Given the description of an element on the screen output the (x, y) to click on. 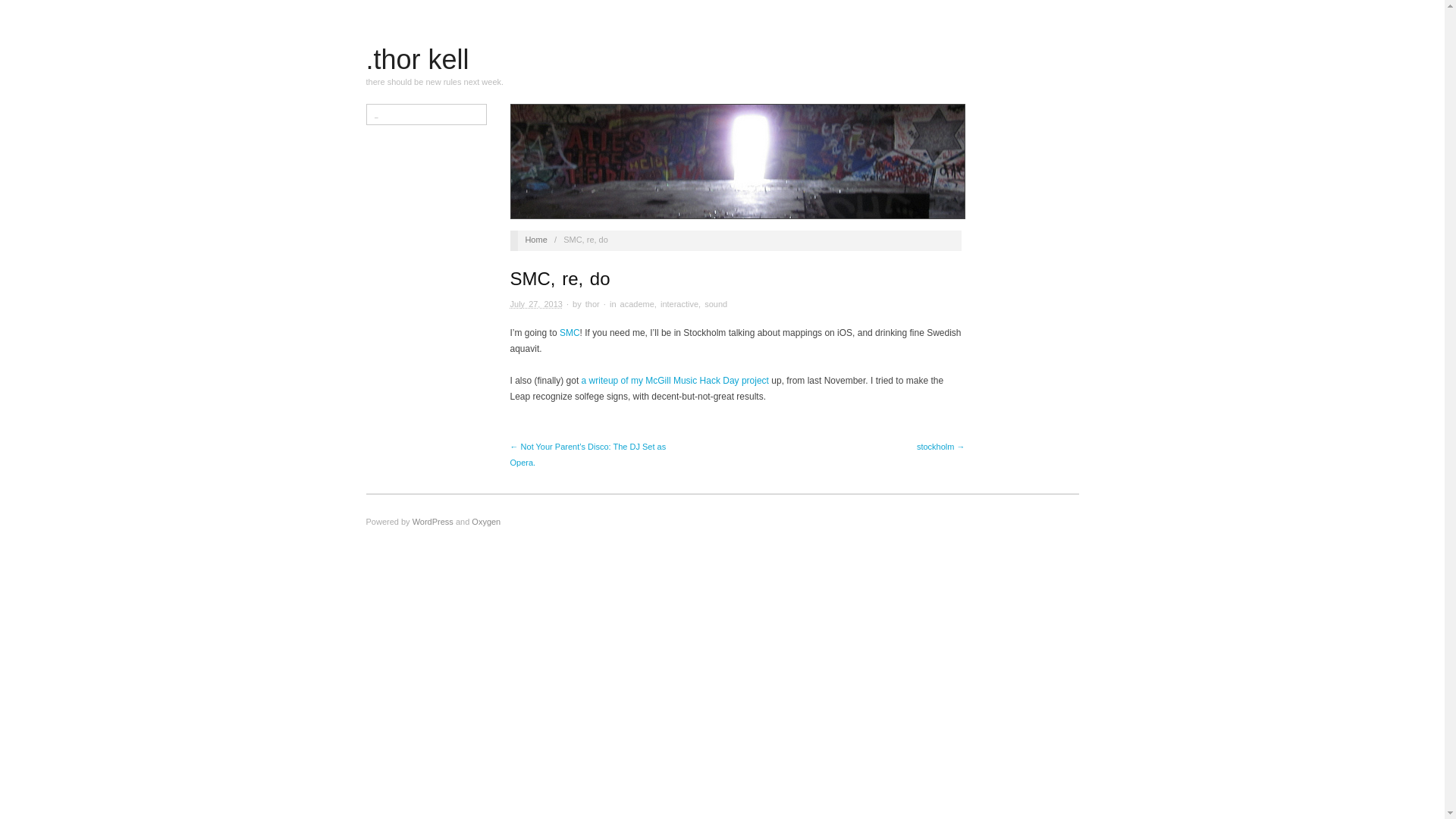
Saturday, July 27th, 2013, 2:12 pm (536, 303)
Oxygen WordPress Theme (485, 521)
SMC (569, 332)
Home (535, 239)
a writeup of my McGill Music Hack Day project (674, 380)
thor (592, 303)
Search (24, 10)
thor (592, 303)
Oxygen (485, 521)
.thor kell (535, 239)
